Given the description of an element on the screen output the (x, y) to click on. 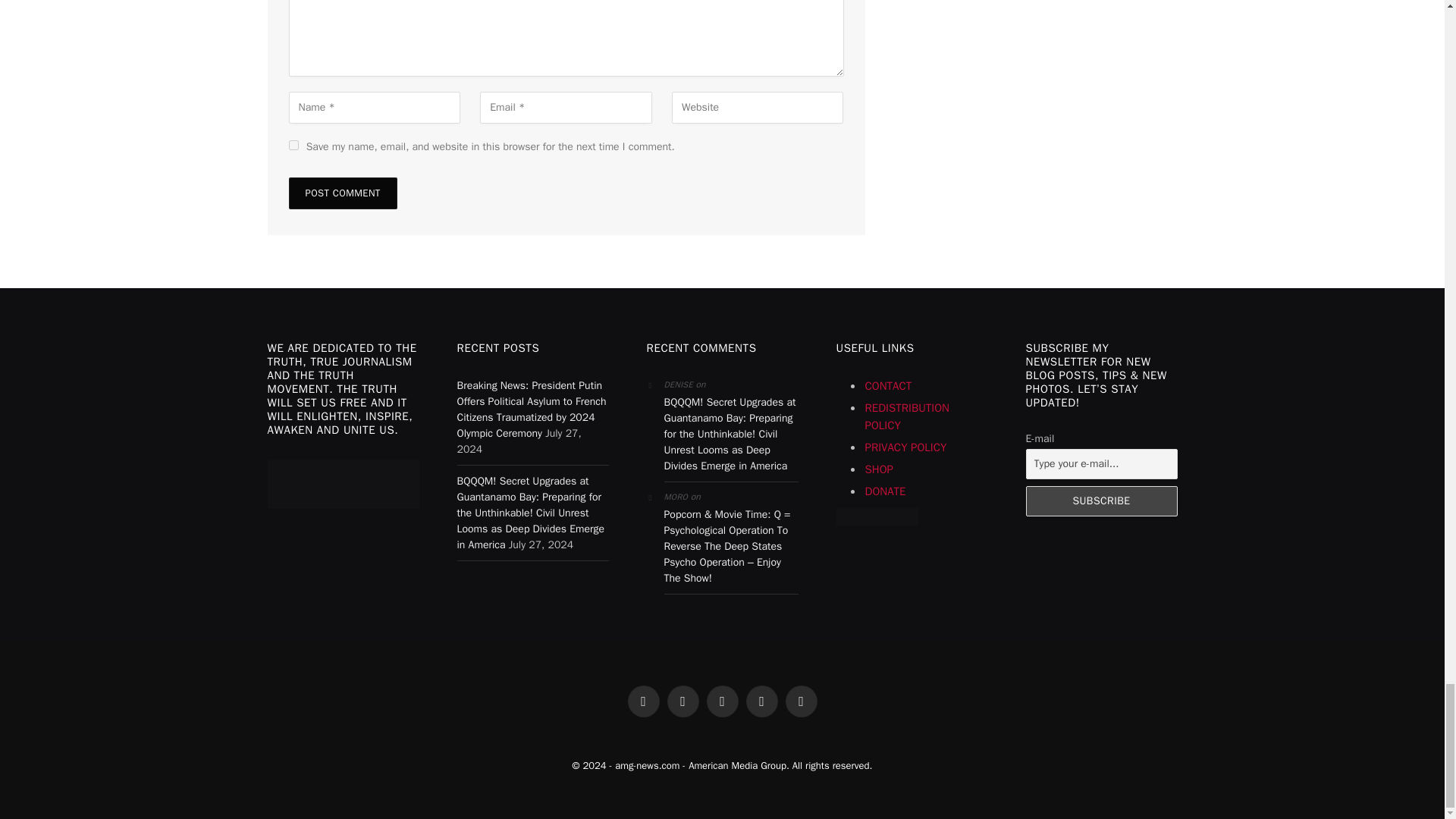
yes (293, 144)
Subscribe (1100, 501)
Post Comment (342, 193)
